Given the description of an element on the screen output the (x, y) to click on. 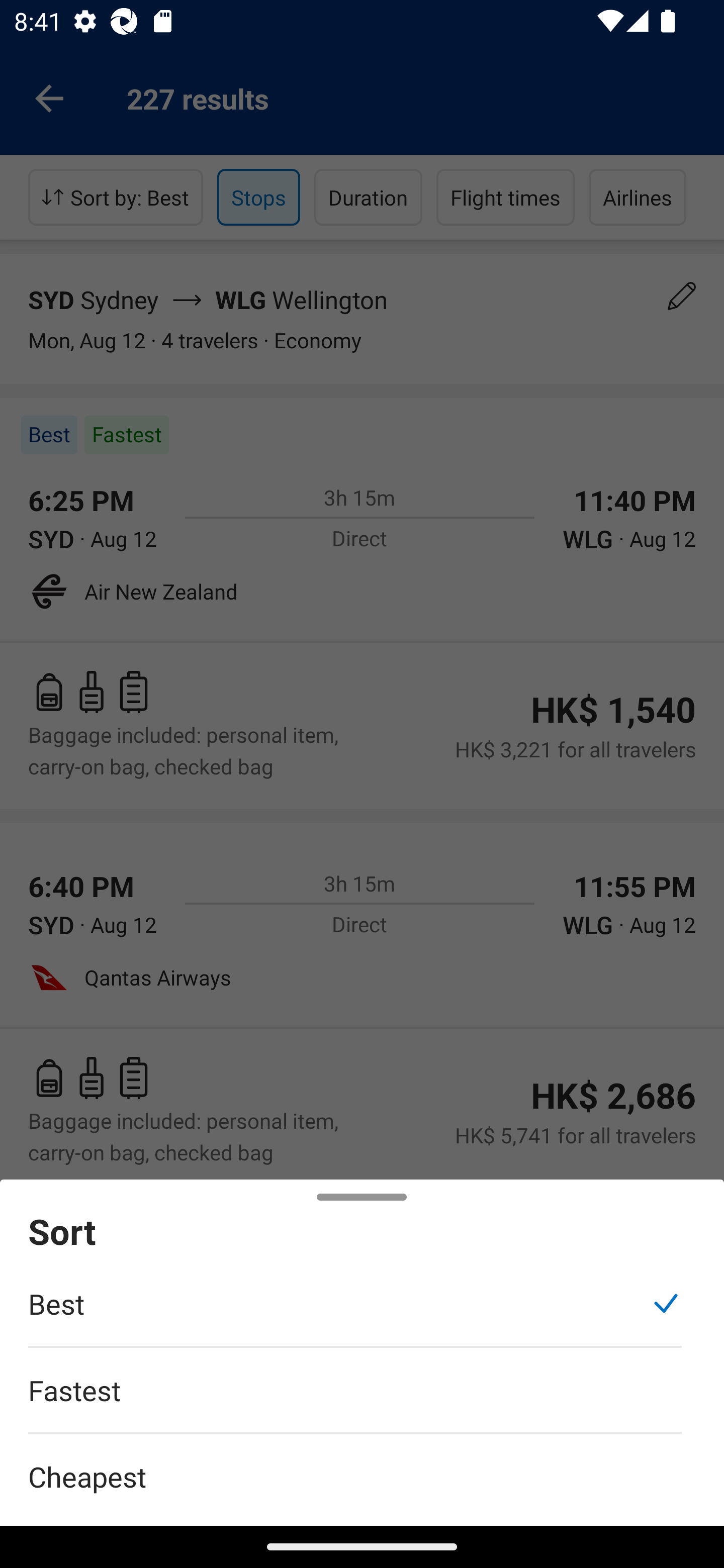
Best (355, 1313)
Fastest (355, 1399)
Cheapest (362, 1465)
